Given the description of an element on the screen output the (x, y) to click on. 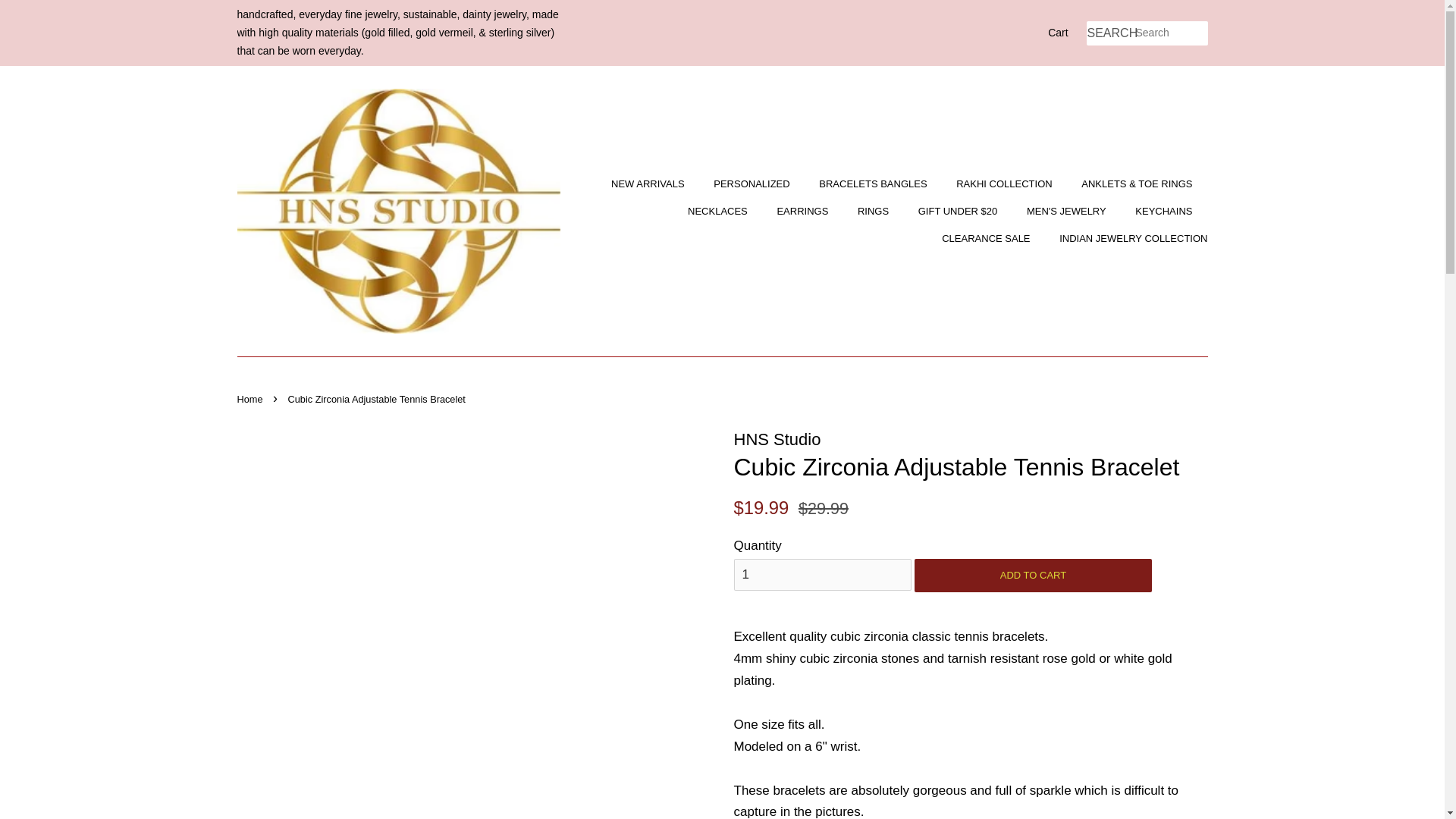
SEARCH (1110, 33)
RINGS (874, 211)
INDIAN JEWELRY COLLECTION (1127, 238)
BRACELETS BANGLES (875, 184)
PERSONALIZED (753, 184)
Cart (1057, 33)
CLEARANCE SALE (987, 238)
Back to the frontpage (250, 398)
NECKLACES (719, 211)
1 (822, 574)
